Given the description of an element on the screen output the (x, y) to click on. 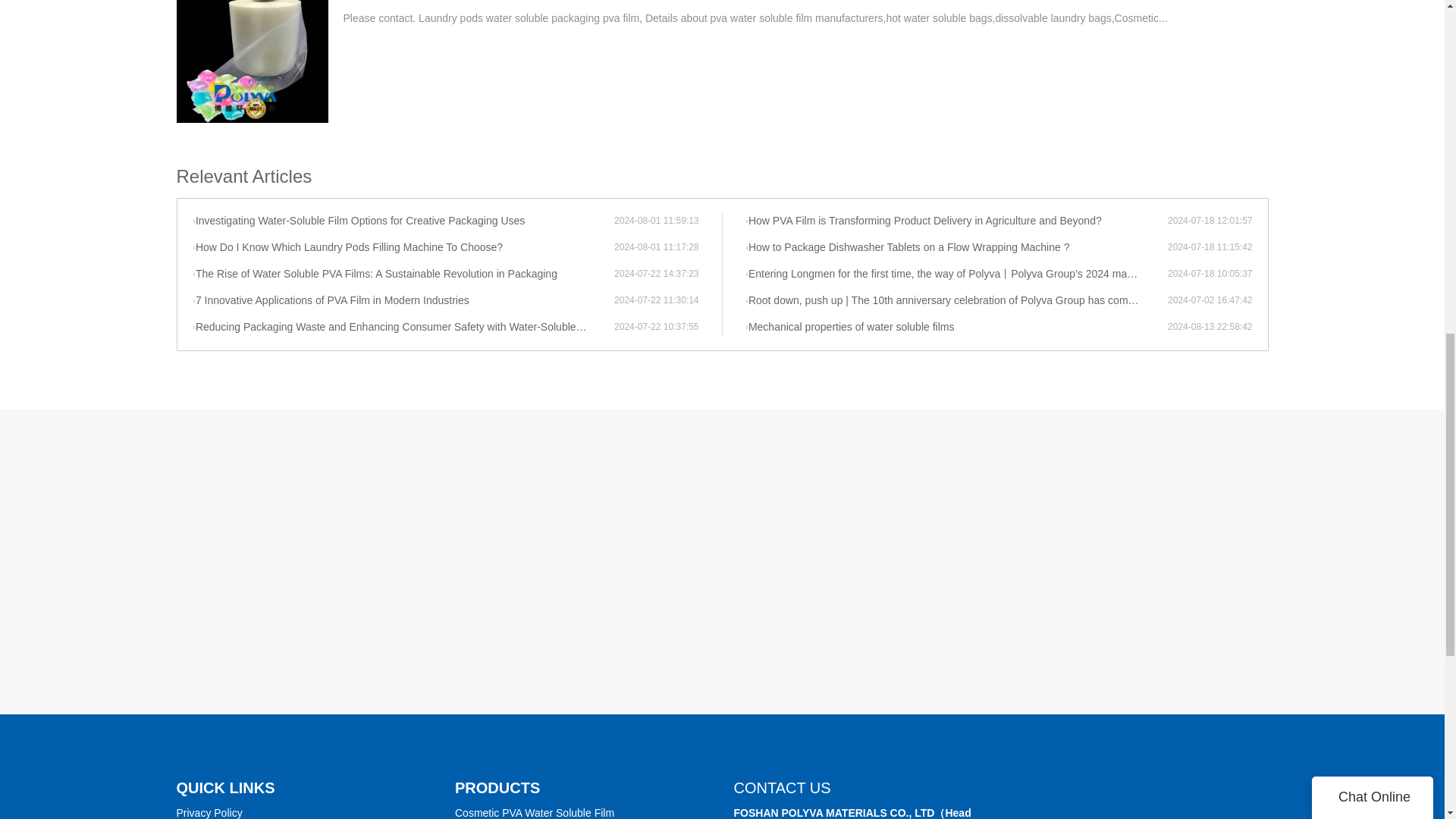
How Do I Know Which Laundry Pods Filling Machine To Choose? (403, 247)
7 Innovative Applications of PVA Film in Modern Industries (403, 300)
